Given the description of an element on the screen output the (x, y) to click on. 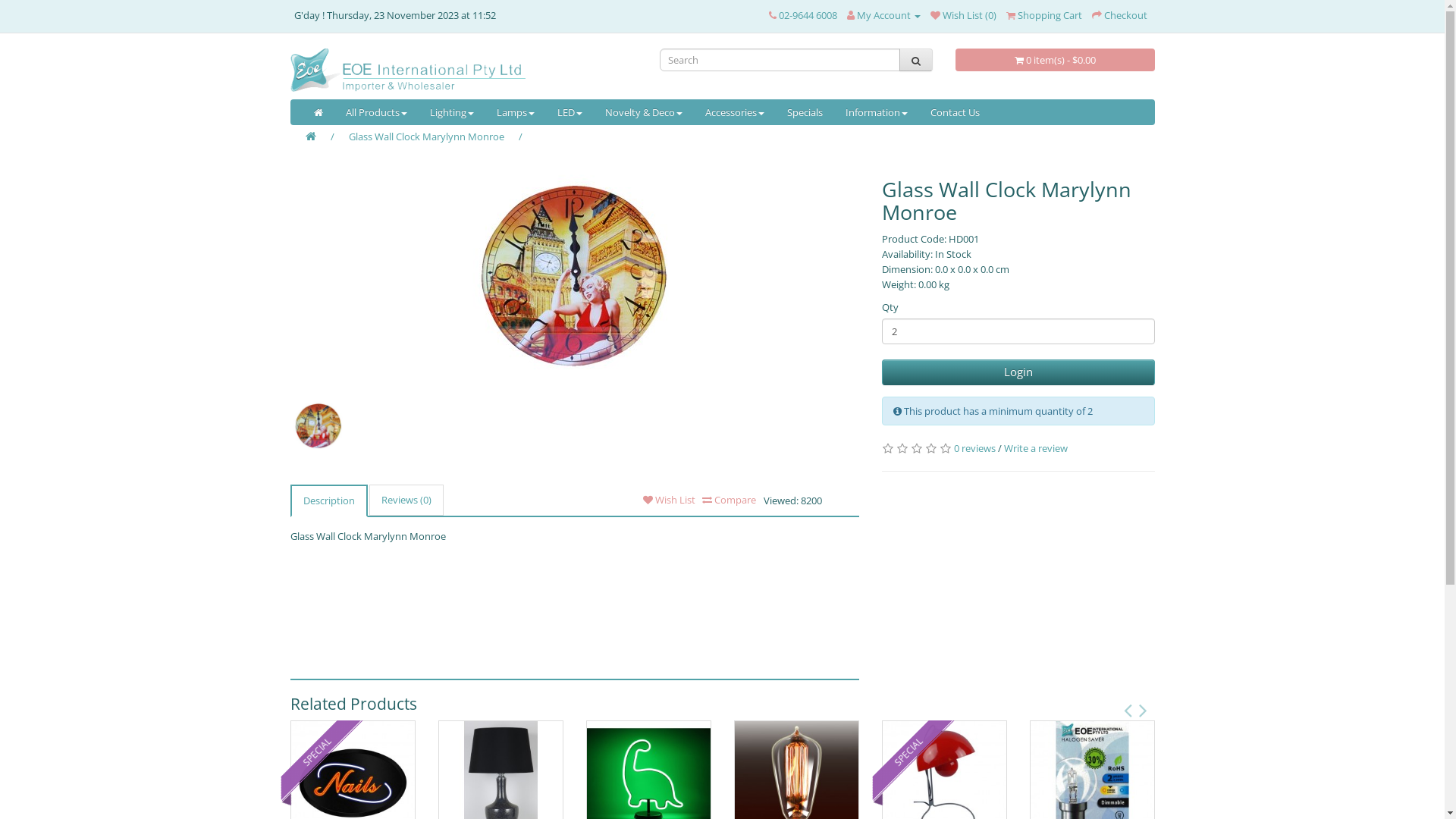
Novelty & Deco Element type: text (643, 112)
EOE International Element type: hover (463, 69)
Checkout Element type: text (1119, 14)
Glass Wall Clock Marylynn Monroe Element type: hover (317, 426)
Specials Element type: text (804, 112)
0 reviews Element type: text (974, 448)
Wish List Element type: text (668, 499)
Shopping Cart Element type: text (1043, 14)
Login Element type: text (1017, 372)
Glass Wall Clock Marylynn Monroe Element type: text (426, 136)
Lighting Element type: text (451, 112)
Glass Wall Clock Marylynn Monroe Element type: hover (574, 276)
My Account Element type: text (882, 14)
Lamps Element type: text (515, 112)
Compare Element type: text (728, 499)
Reviews (0) Element type: text (405, 499)
02-9644 6008 Element type: text (802, 14)
Contact Us Element type: text (955, 112)
Wish List (0) Element type: text (962, 14)
Glass Wall Clock Marylynn Monroe Element type: hover (317, 425)
Accessories Element type: text (734, 112)
Write a review Element type: text (1035, 448)
Information Element type: text (876, 112)
0 item(s) - $0.00 Element type: text (1054, 59)
LED Element type: text (569, 112)
All Products Element type: text (375, 112)
Description Element type: text (328, 500)
